Given the description of an element on the screen output the (x, y) to click on. 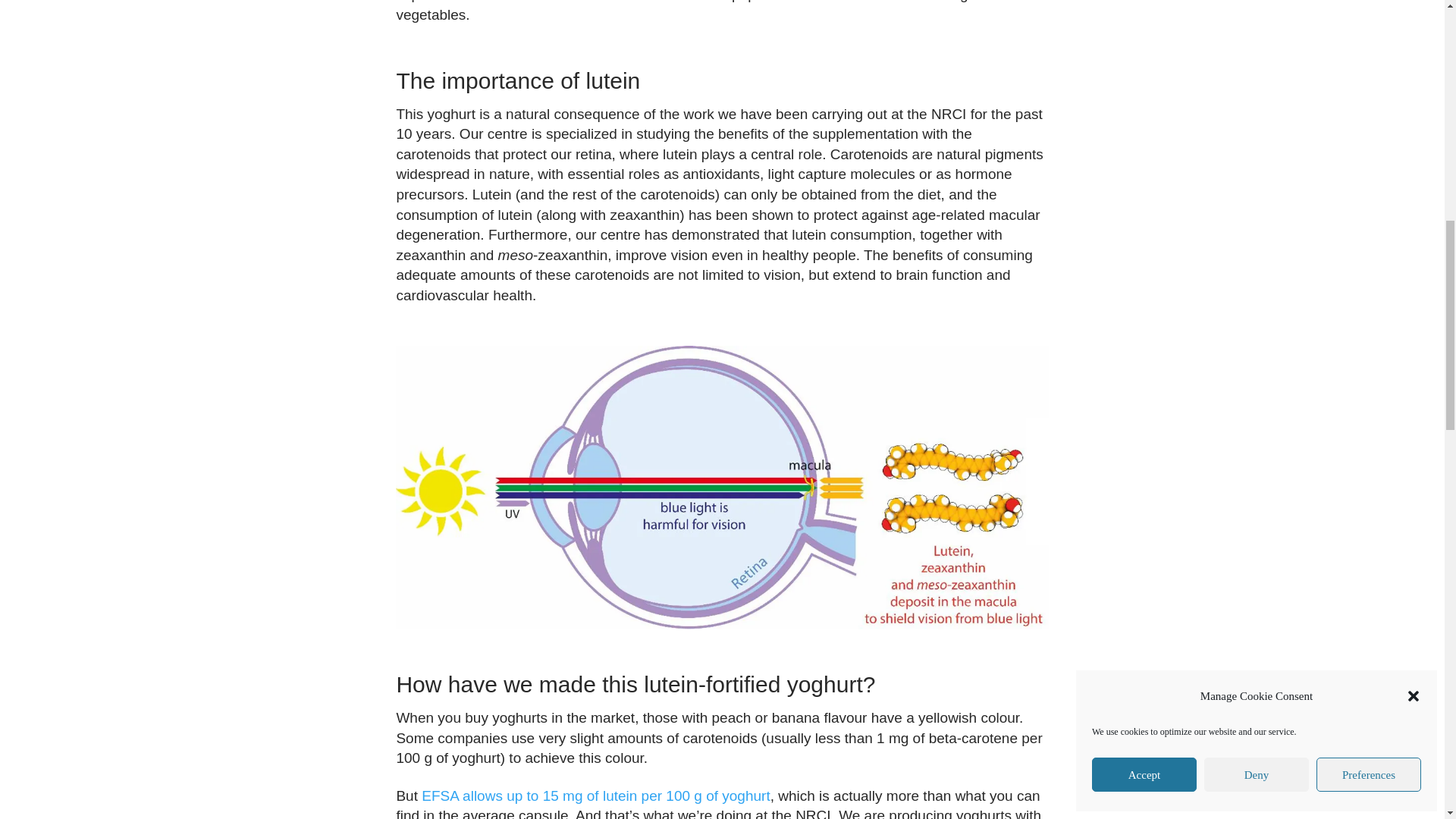
EFSA allows up to 15 mg of lutein per 100 g of yoghurt (596, 795)
